Given the description of an element on the screen output the (x, y) to click on. 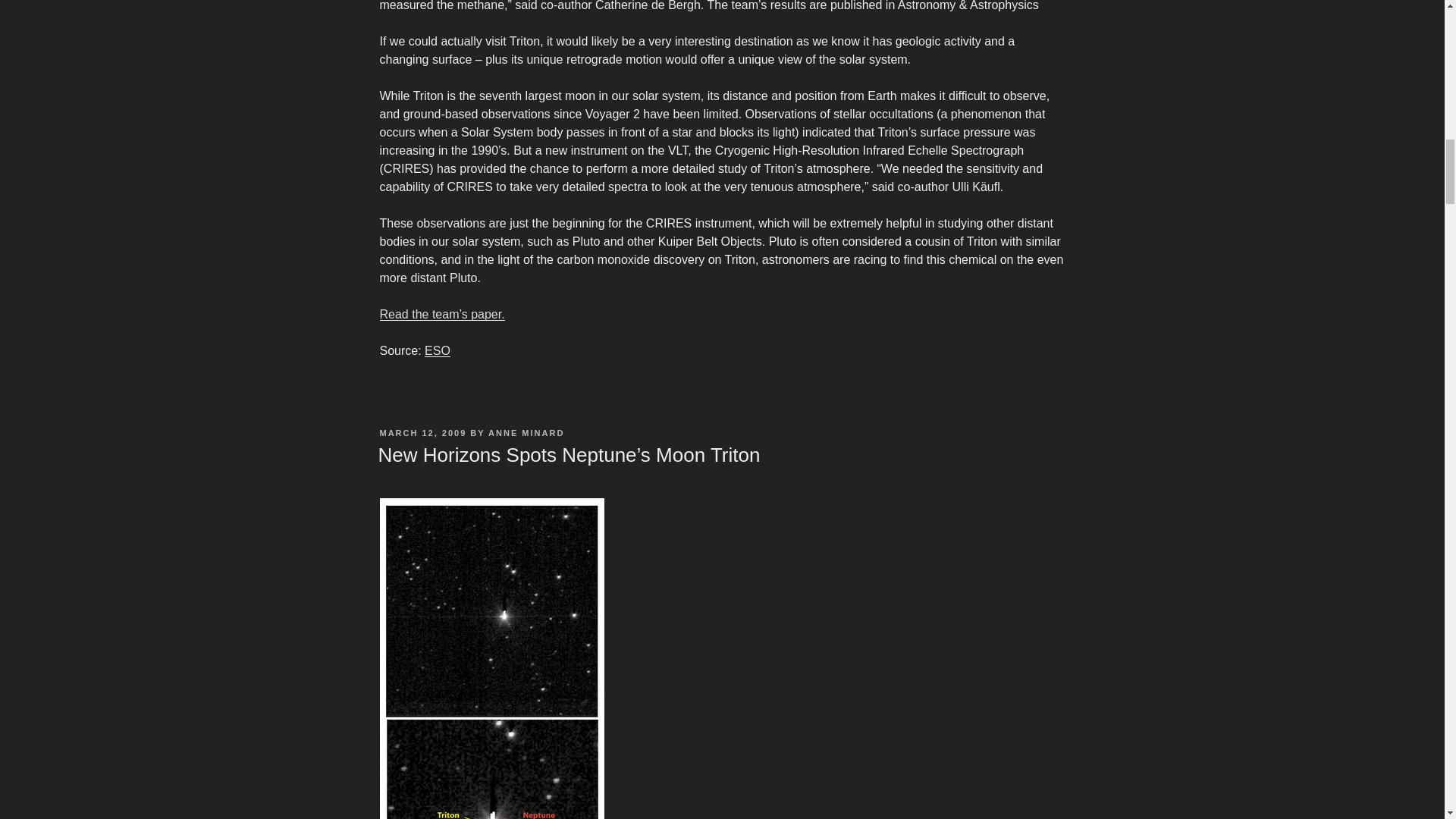
ESO (437, 350)
MARCH 12, 2009 (421, 432)
ANNE MINARD (525, 432)
